Given the description of an element on the screen output the (x, y) to click on. 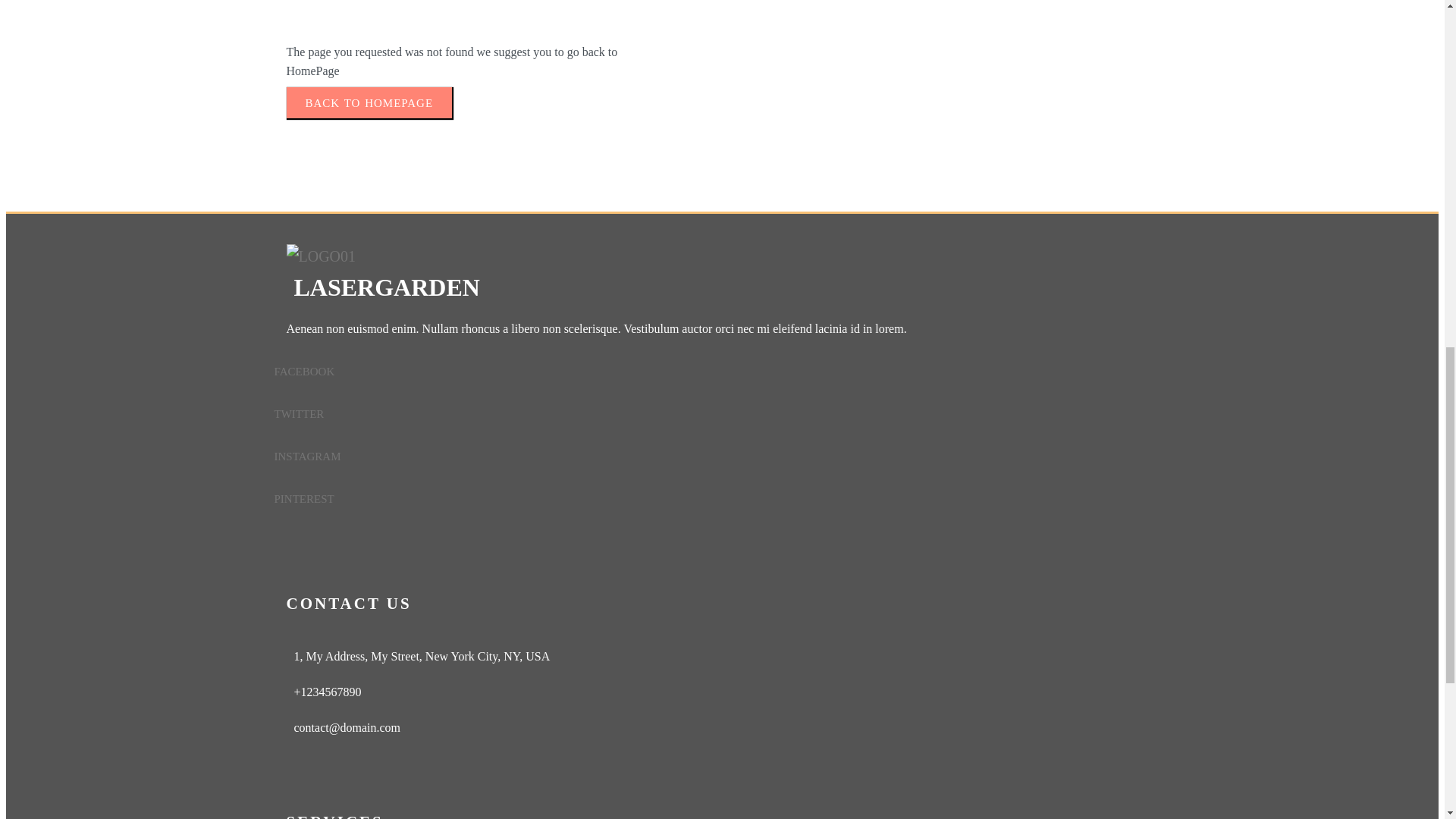
fab fa-facebook-f (713, 371)
logo01 (321, 256)
TWITTER (713, 413)
FACEBOOK (713, 371)
fab fa-twitter (713, 413)
fab fa-instagram (713, 456)
BACK TO HOMEPAGE (369, 101)
fab fa-pinterest-p (713, 498)
LASERGARDEN (722, 277)
INSTAGRAM (713, 456)
